Given the description of an element on the screen output the (x, y) to click on. 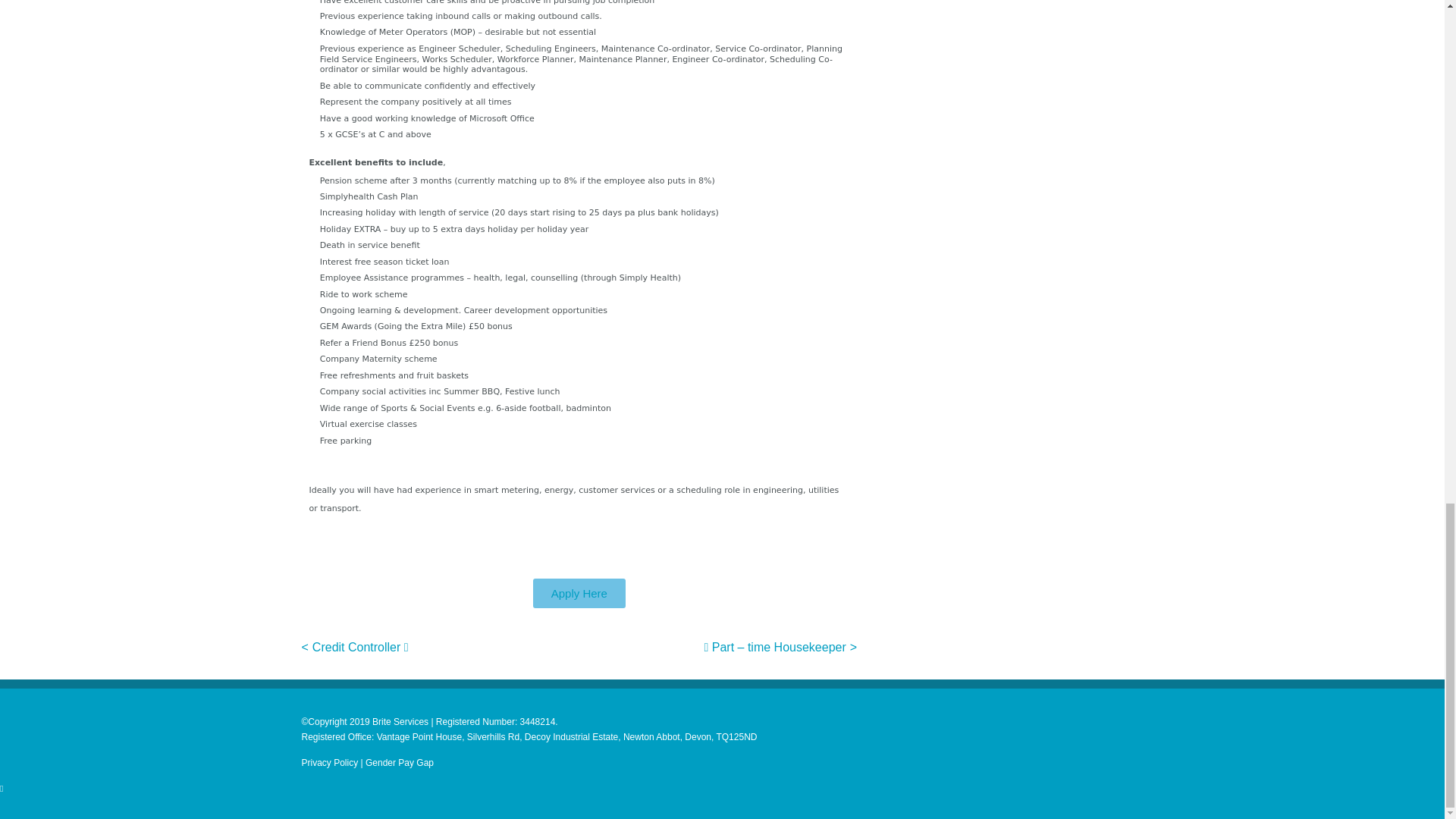
Privacy Policy (329, 762)
Credit Controller (361, 646)
Gender Pay Gap (399, 762)
Apply Here (579, 593)
